Given the description of an element on the screen output the (x, y) to click on. 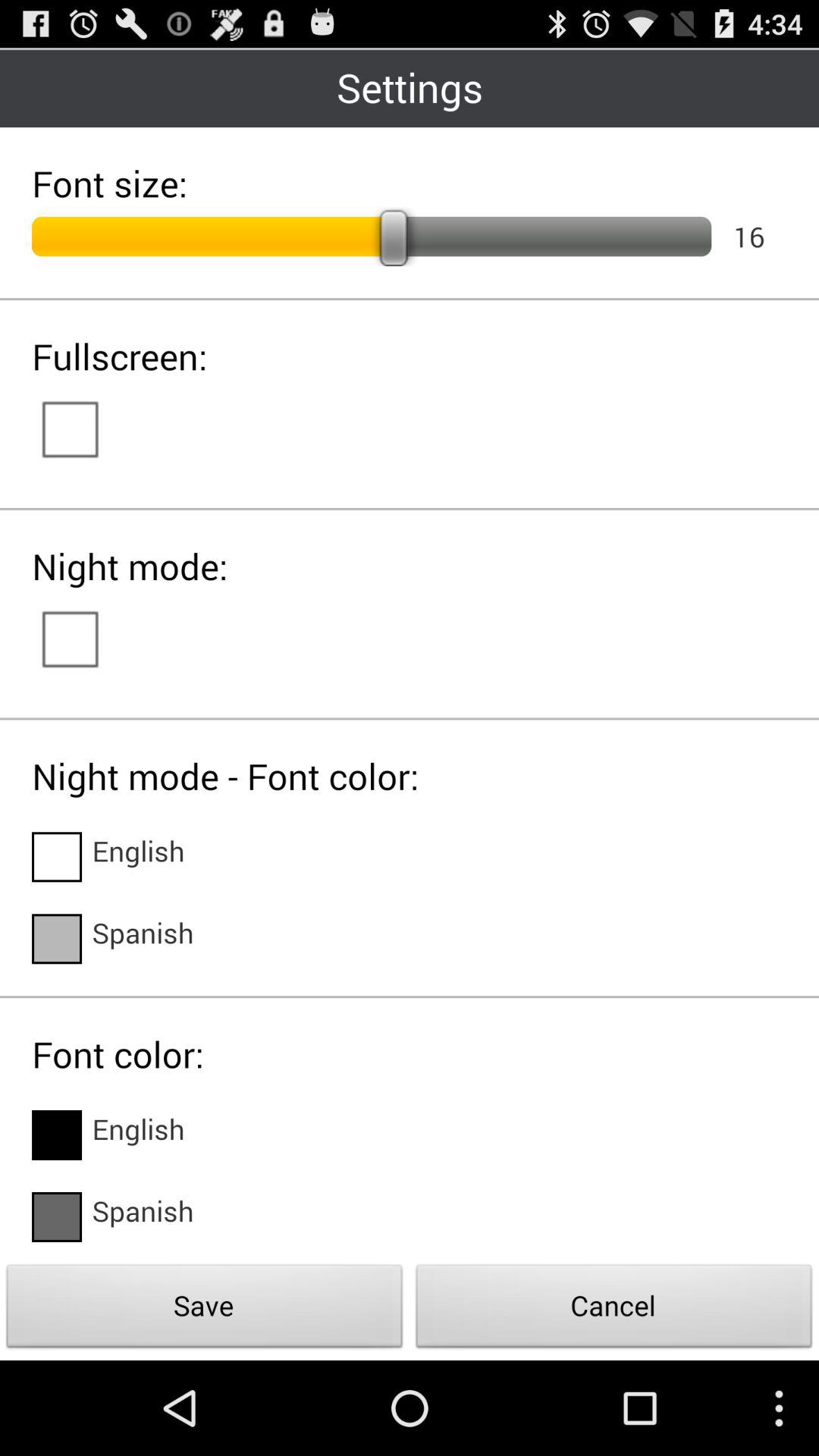
select full screen mode (85, 428)
